Given the description of an element on the screen output the (x, y) to click on. 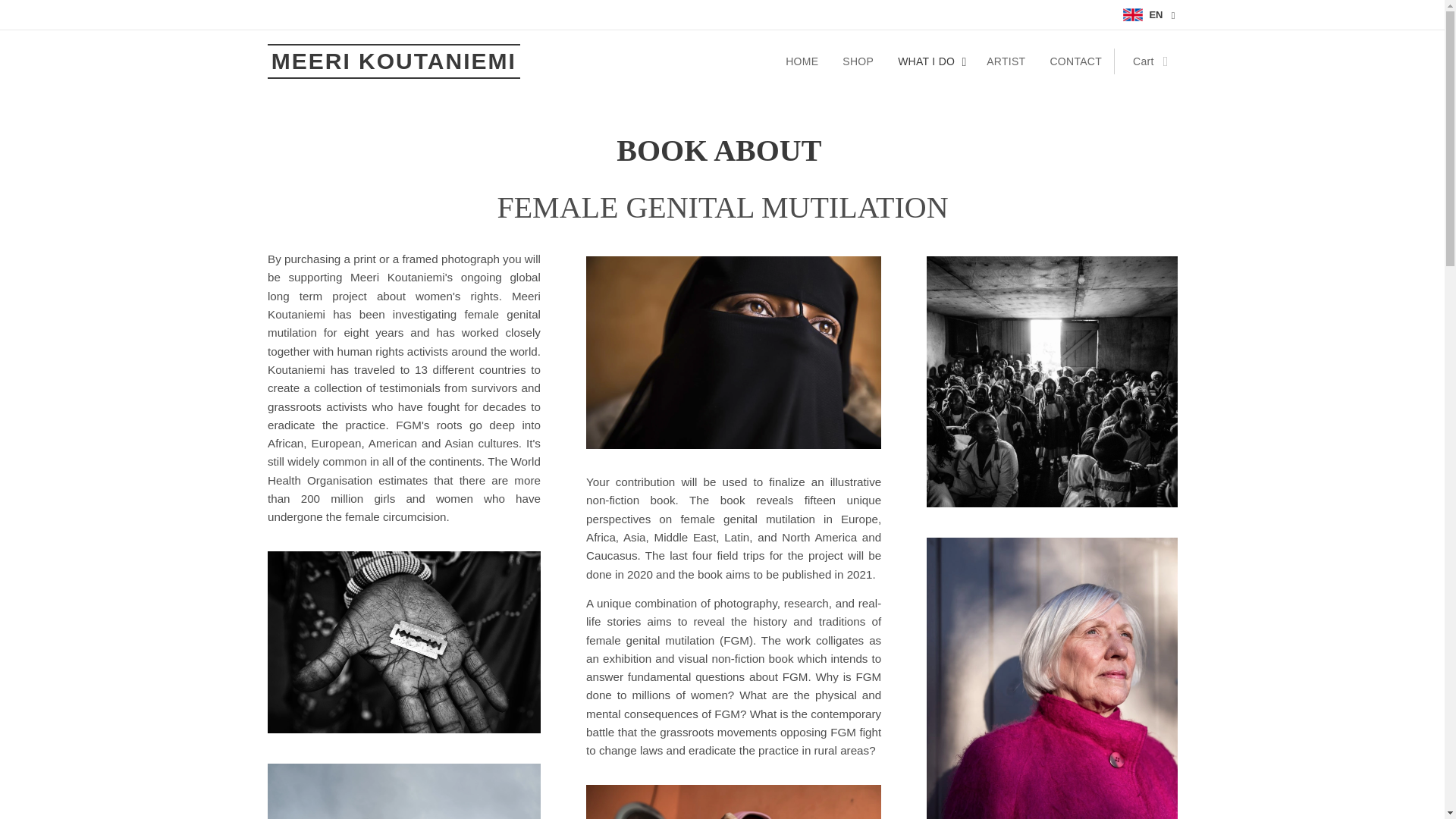
Cart (1144, 61)
ARTIST (1005, 61)
HOME (805, 61)
SHOP (857, 61)
MEERI KOUTANIEMI (392, 60)
CONTACT (1074, 61)
WHAT I DO (929, 61)
